Given the description of an element on the screen output the (x, y) to click on. 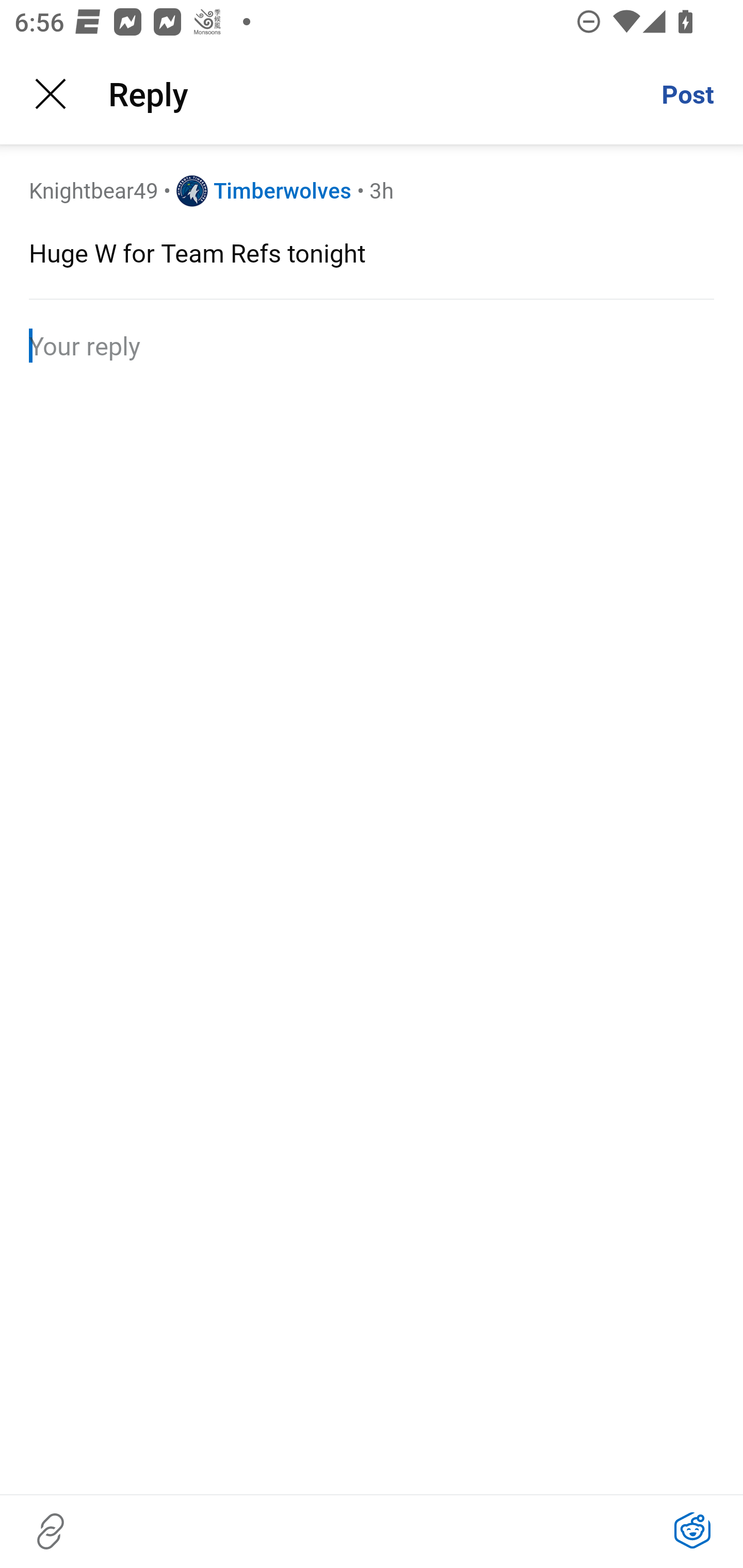
Close (50, 93)
Post (687, 94)
Your reply (371, 345)
Insert a link (50, 1530)
Show Expressions (692, 1530)
